Given the description of an element on the screen output the (x, y) to click on. 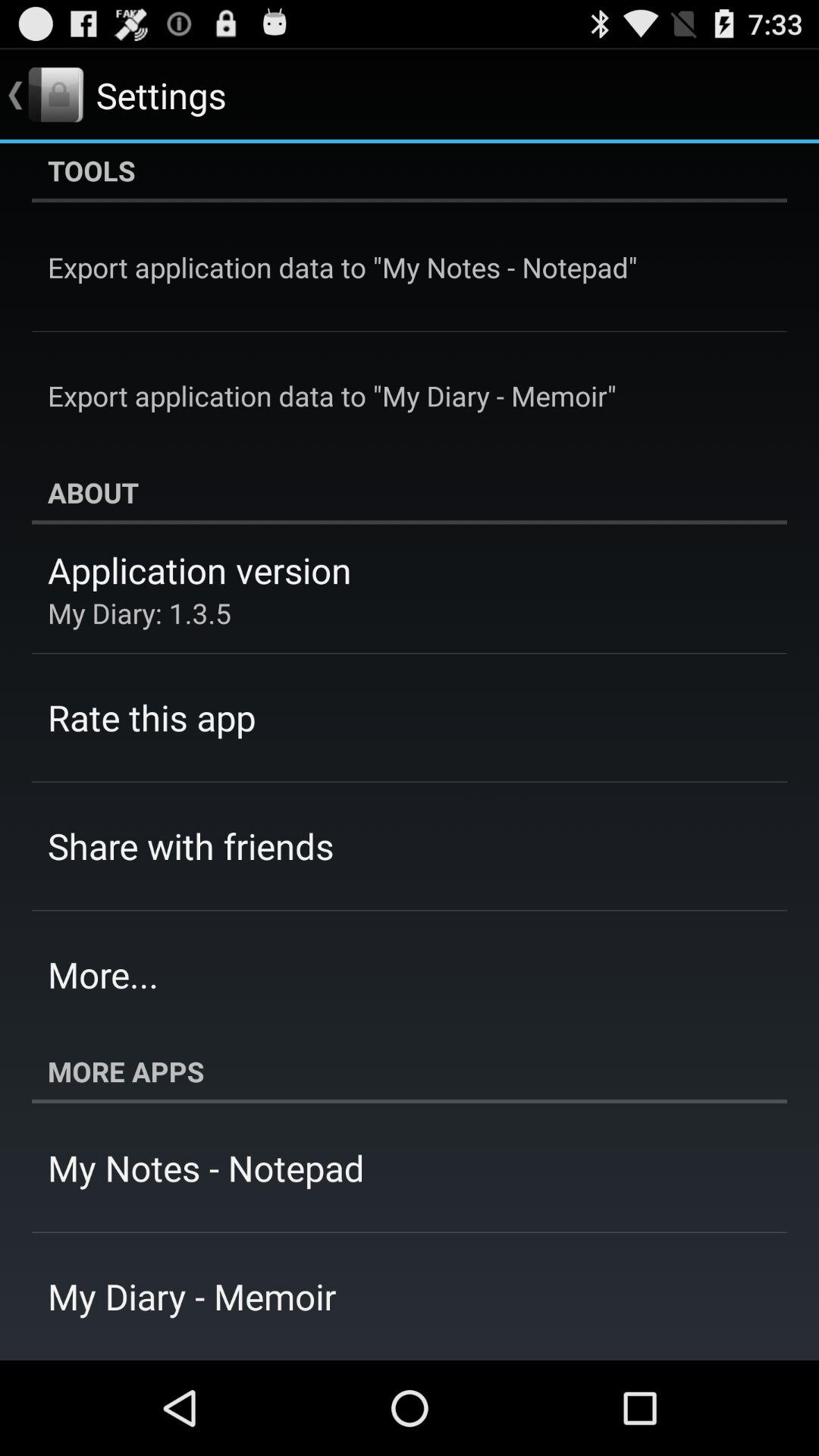
scroll until the more... icon (102, 974)
